Given the description of an element on the screen output the (x, y) to click on. 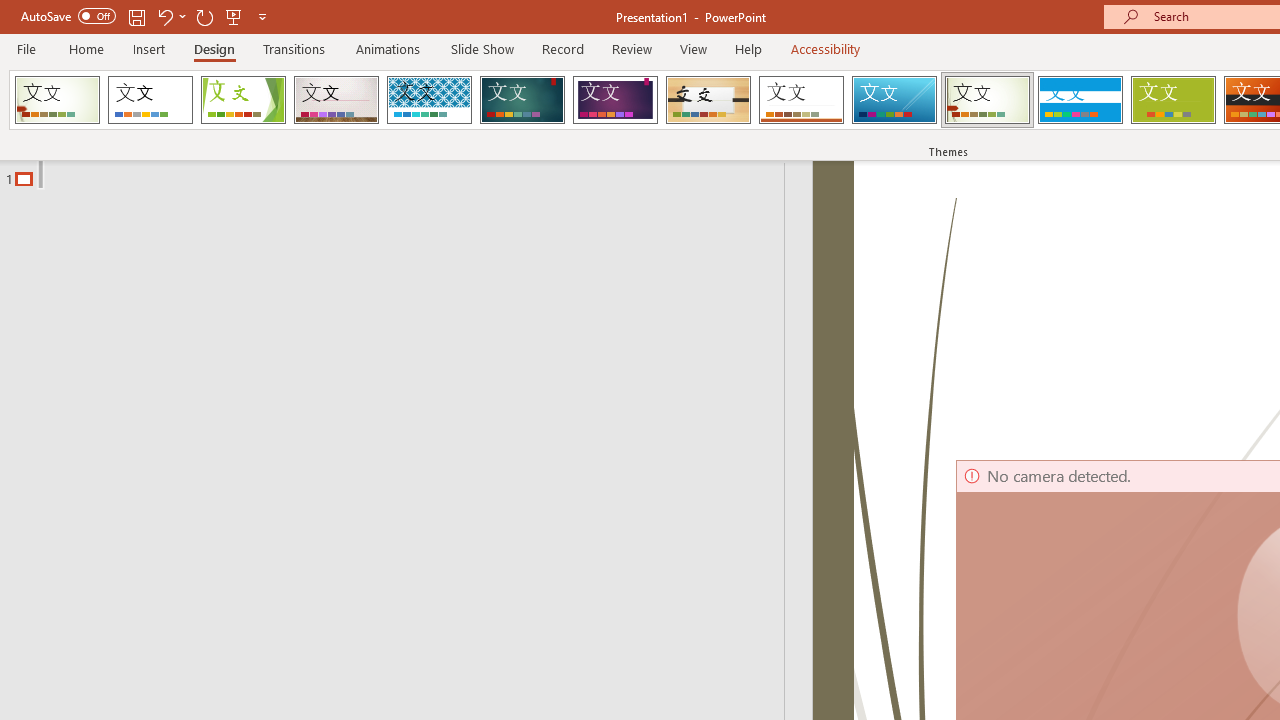
Ion (522, 100)
Ion Boardroom (615, 100)
